Given the description of an element on the screen output the (x, y) to click on. 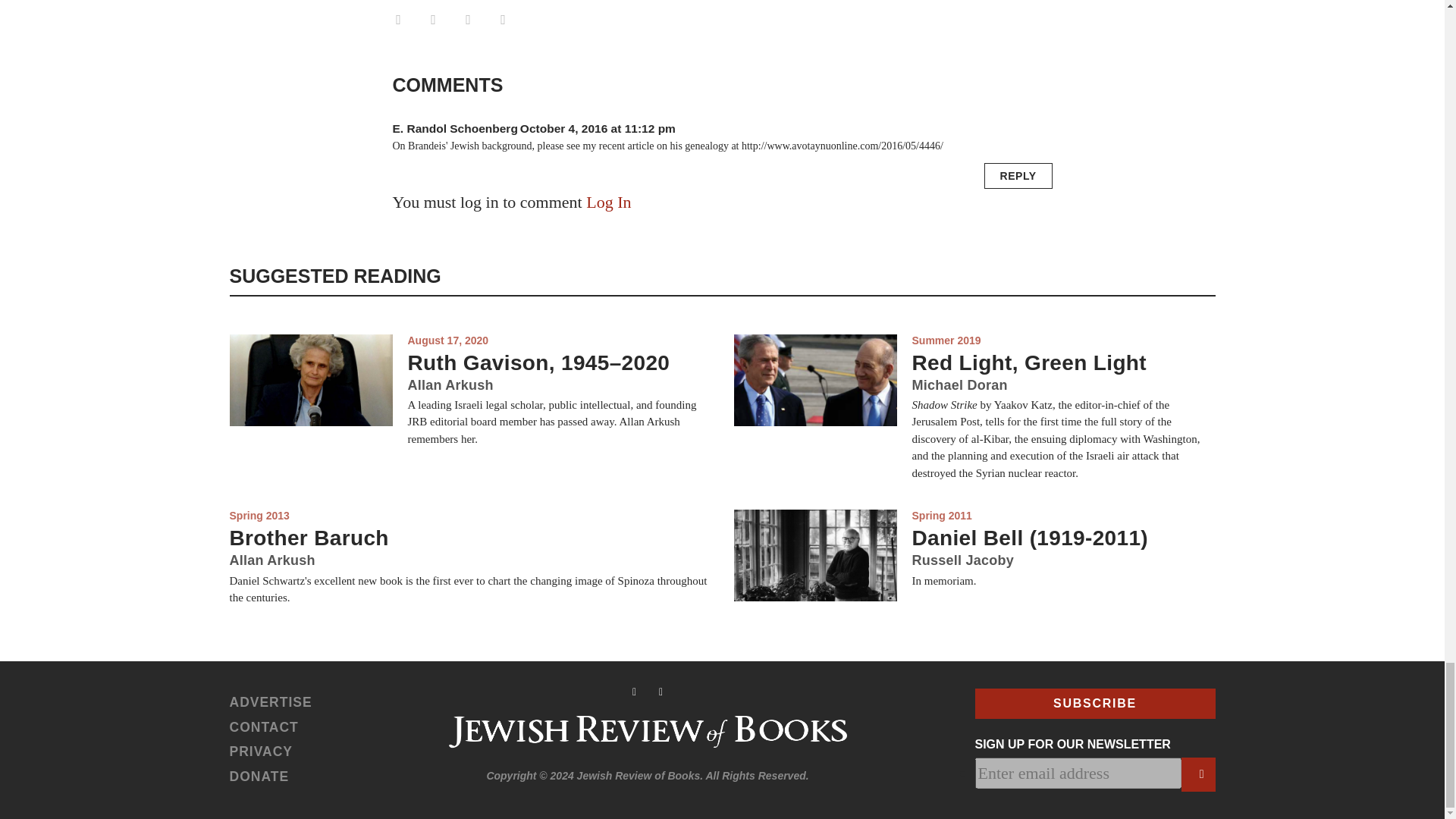
Log In (608, 201)
Sign Up (1197, 774)
REPLY (1018, 175)
Twitter (501, 19)
Print (397, 19)
October 4, 2016 at 11:12 pm (597, 128)
Email (431, 19)
Facebook (466, 19)
